Given the description of an element on the screen output the (x, y) to click on. 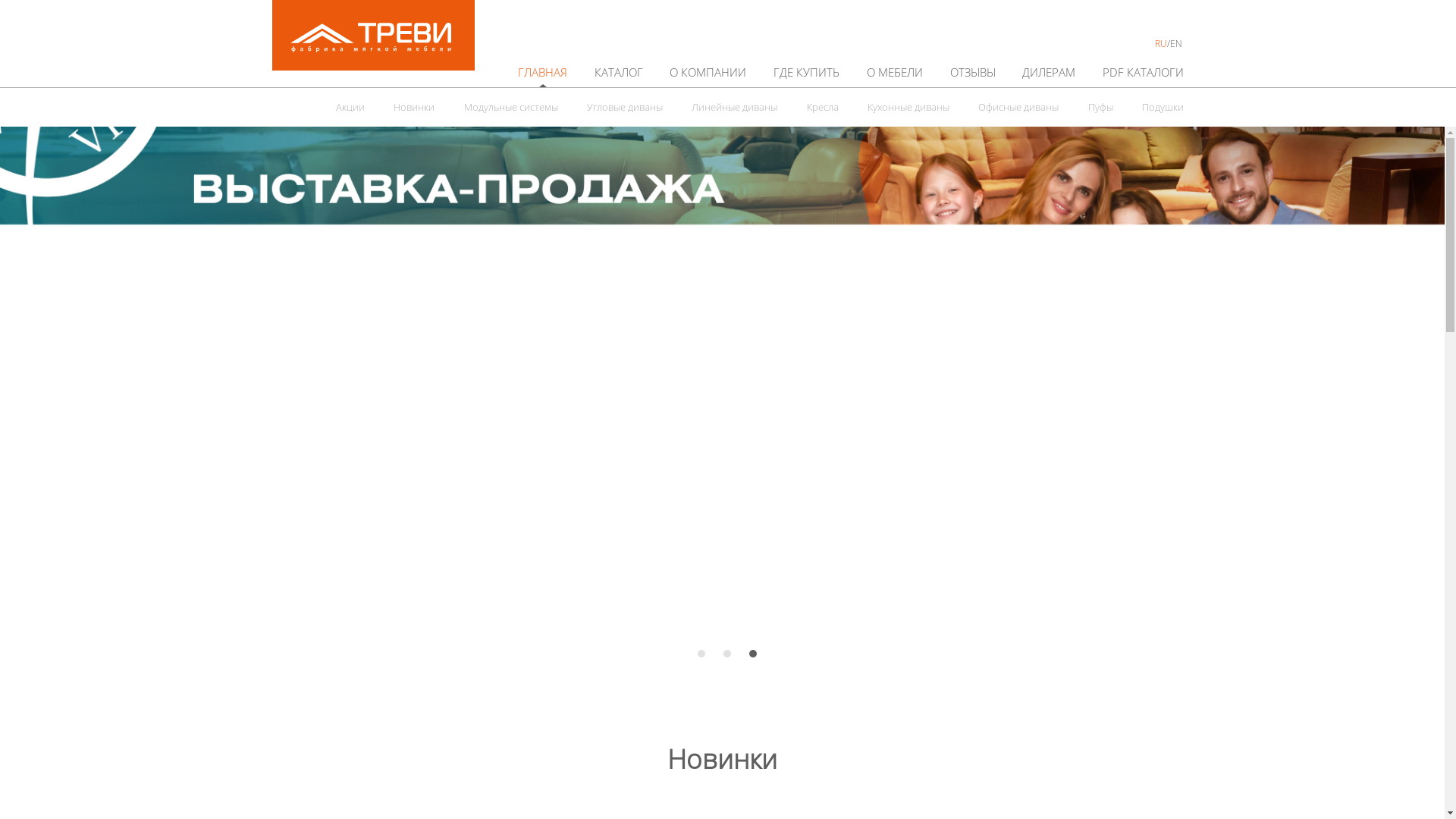
EN Element type: text (1176, 43)
RU Element type: text (1160, 43)
RU/EN Element type: text (1168, 43)
